Given the description of an element on the screen output the (x, y) to click on. 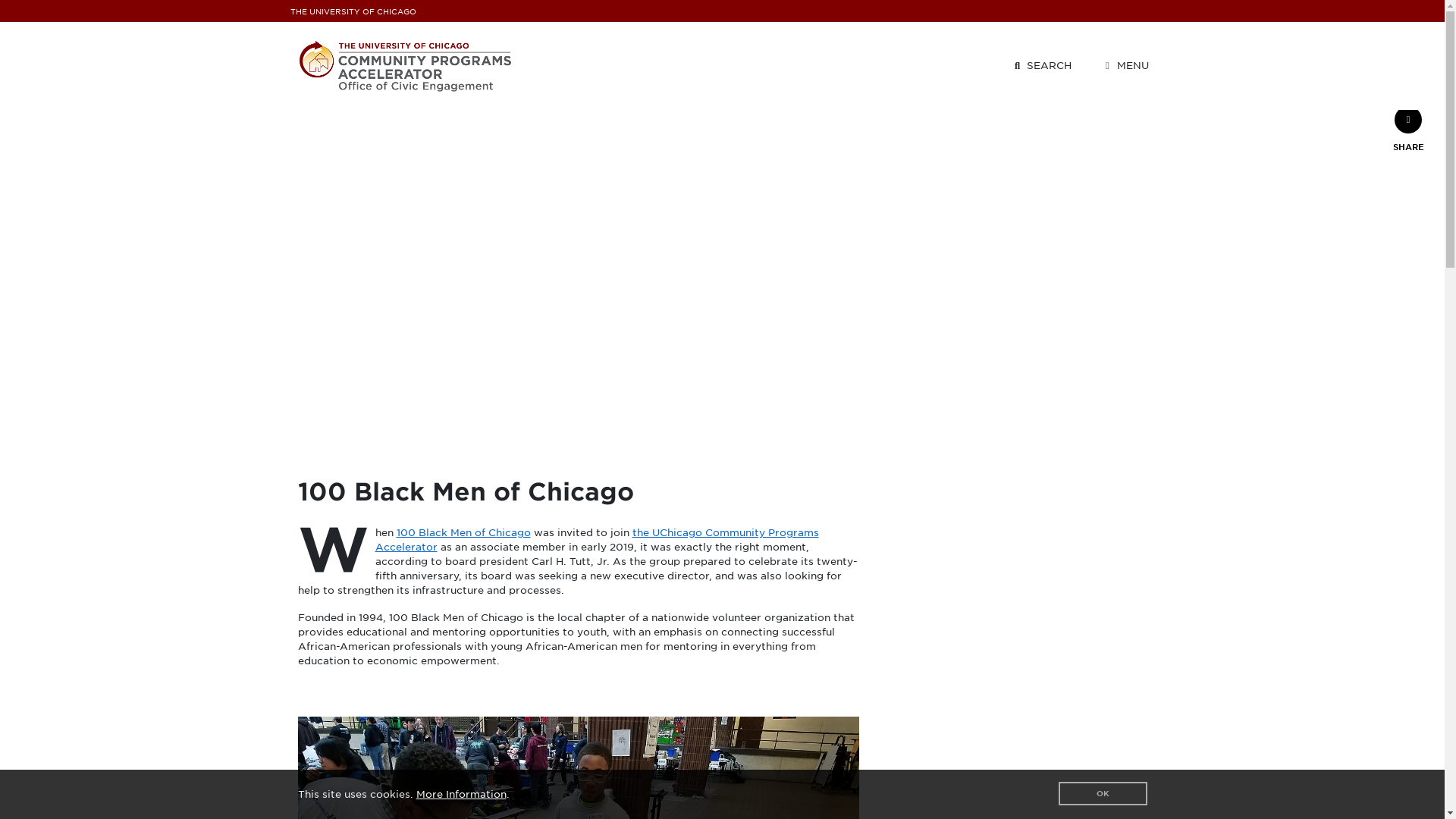
the UChicago Community Programs Accelerator (596, 539)
Search site (1041, 65)
THE UNIVERSITY OF CHICAGO (351, 11)
100 Black Men of Chicago (462, 532)
SEARCH (1041, 65)
MENU (1124, 65)
